Given the description of an element on the screen output the (x, y) to click on. 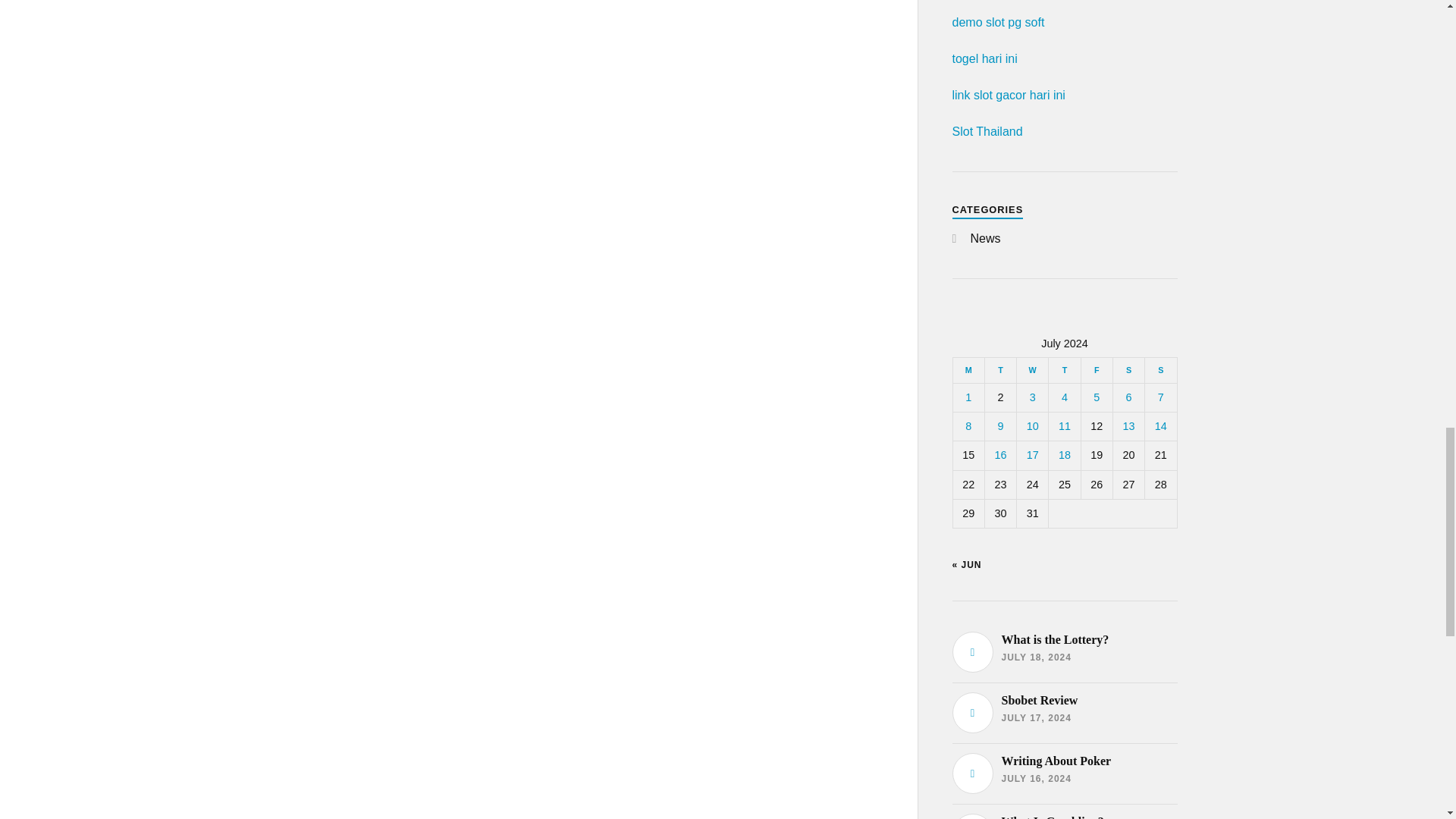
Thursday (1064, 370)
Saturday (1128, 370)
Sunday (1160, 370)
Tuesday (1000, 370)
Monday (968, 370)
Friday (1096, 370)
Wednesday (1032, 370)
